Given the description of an element on the screen output the (x, y) to click on. 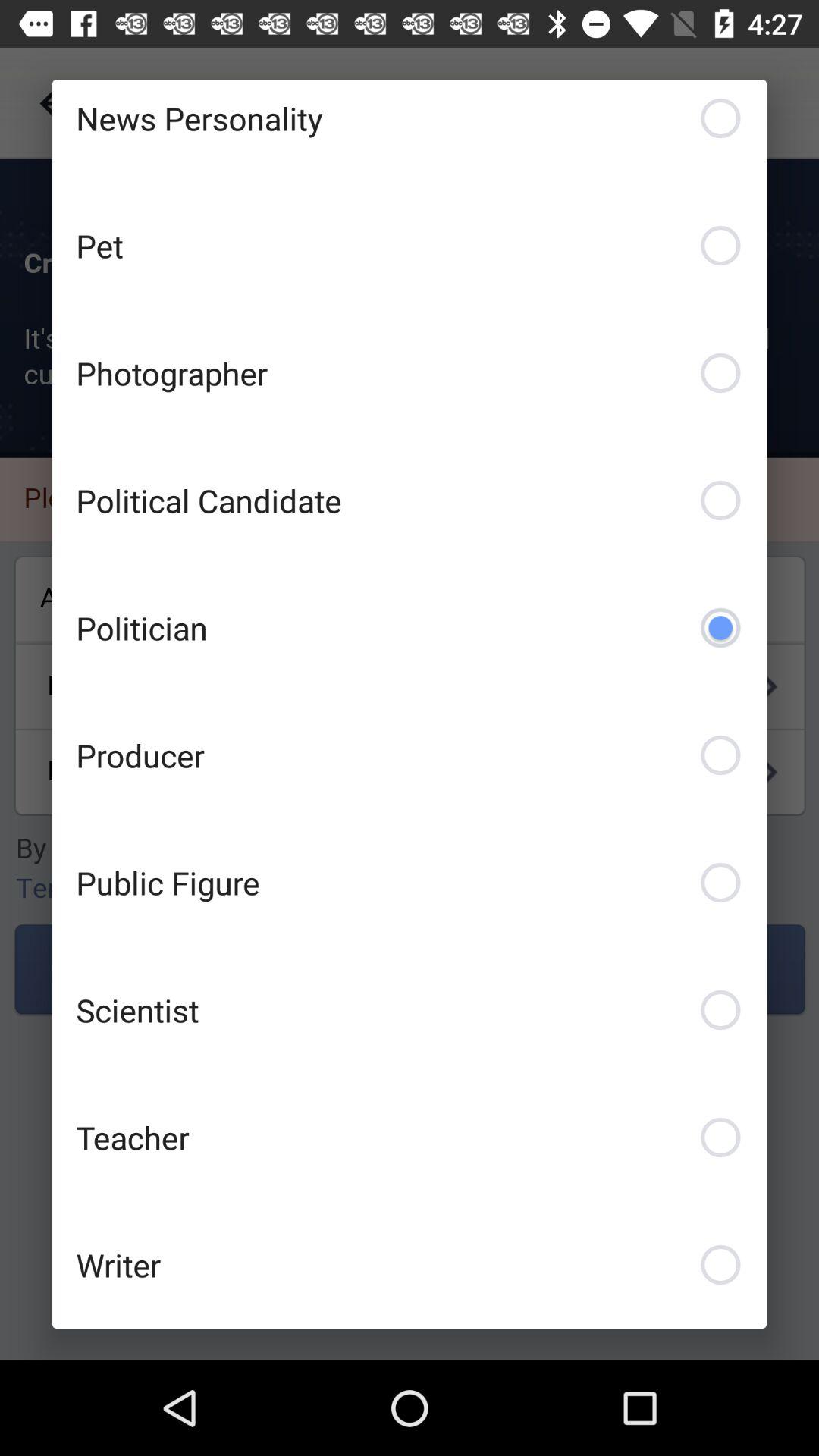
swipe until pet icon (409, 245)
